Given the description of an element on the screen output the (x, y) to click on. 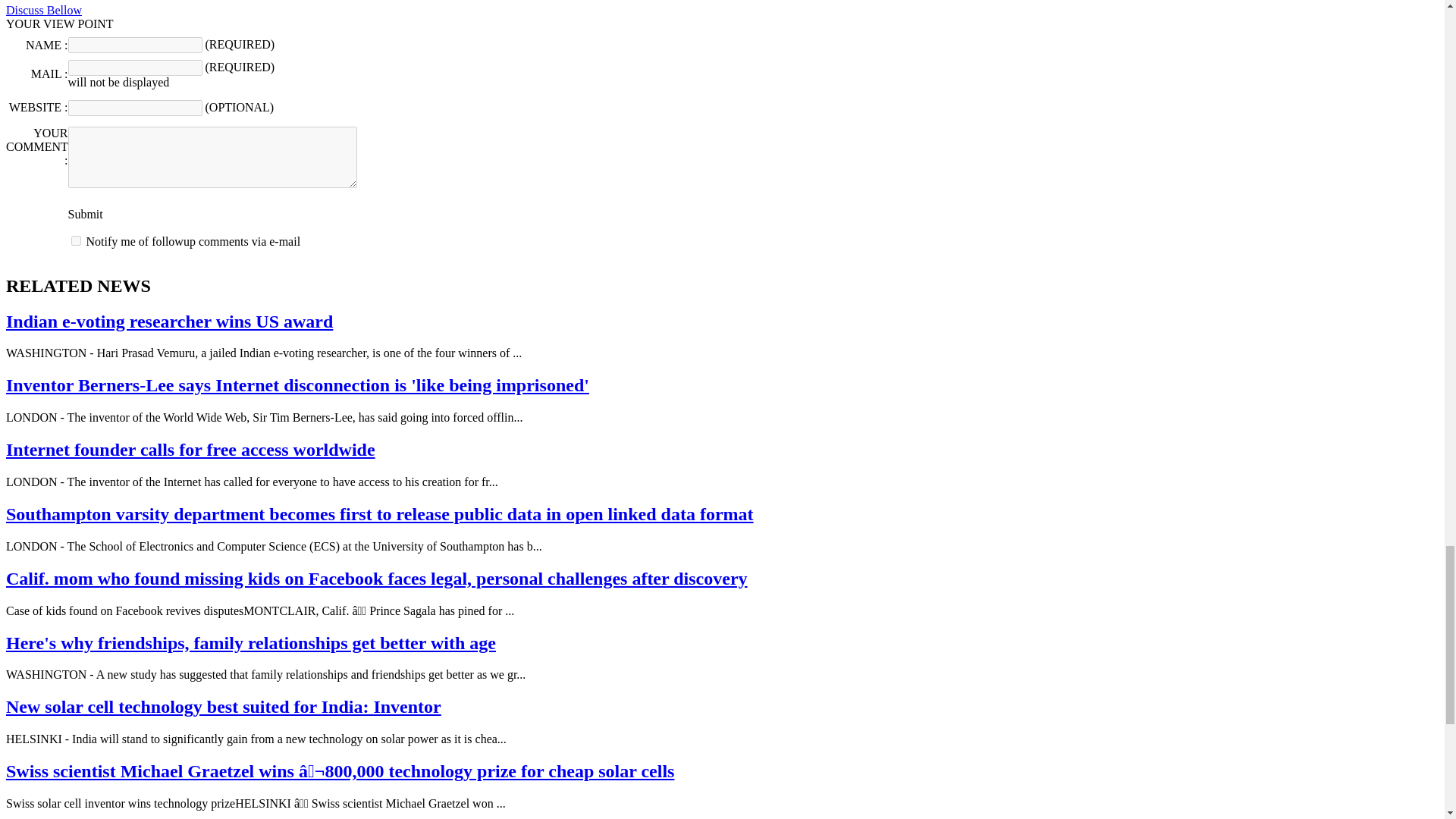
subscribe (76, 240)
